Given the description of an element on the screen output the (x, y) to click on. 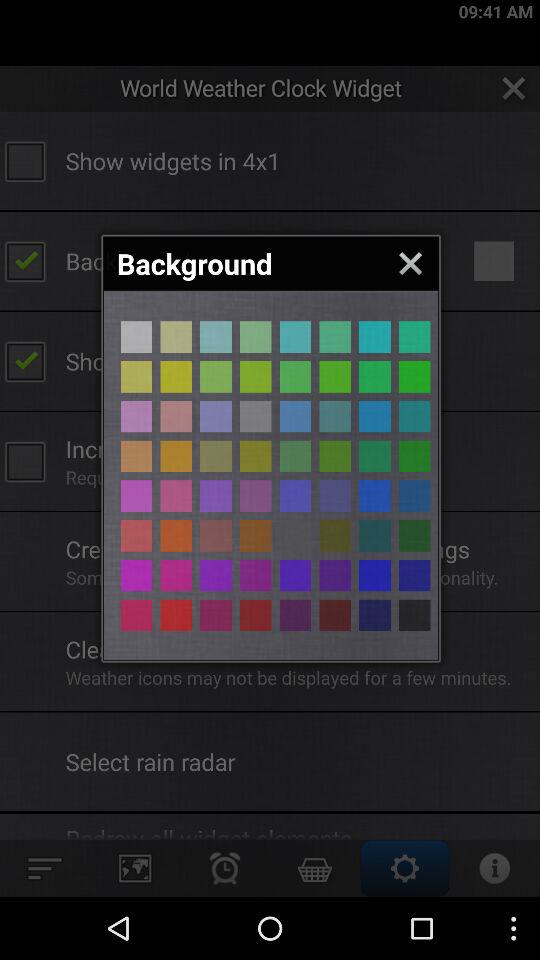
backround button (374, 575)
